Given the description of an element on the screen output the (x, y) to click on. 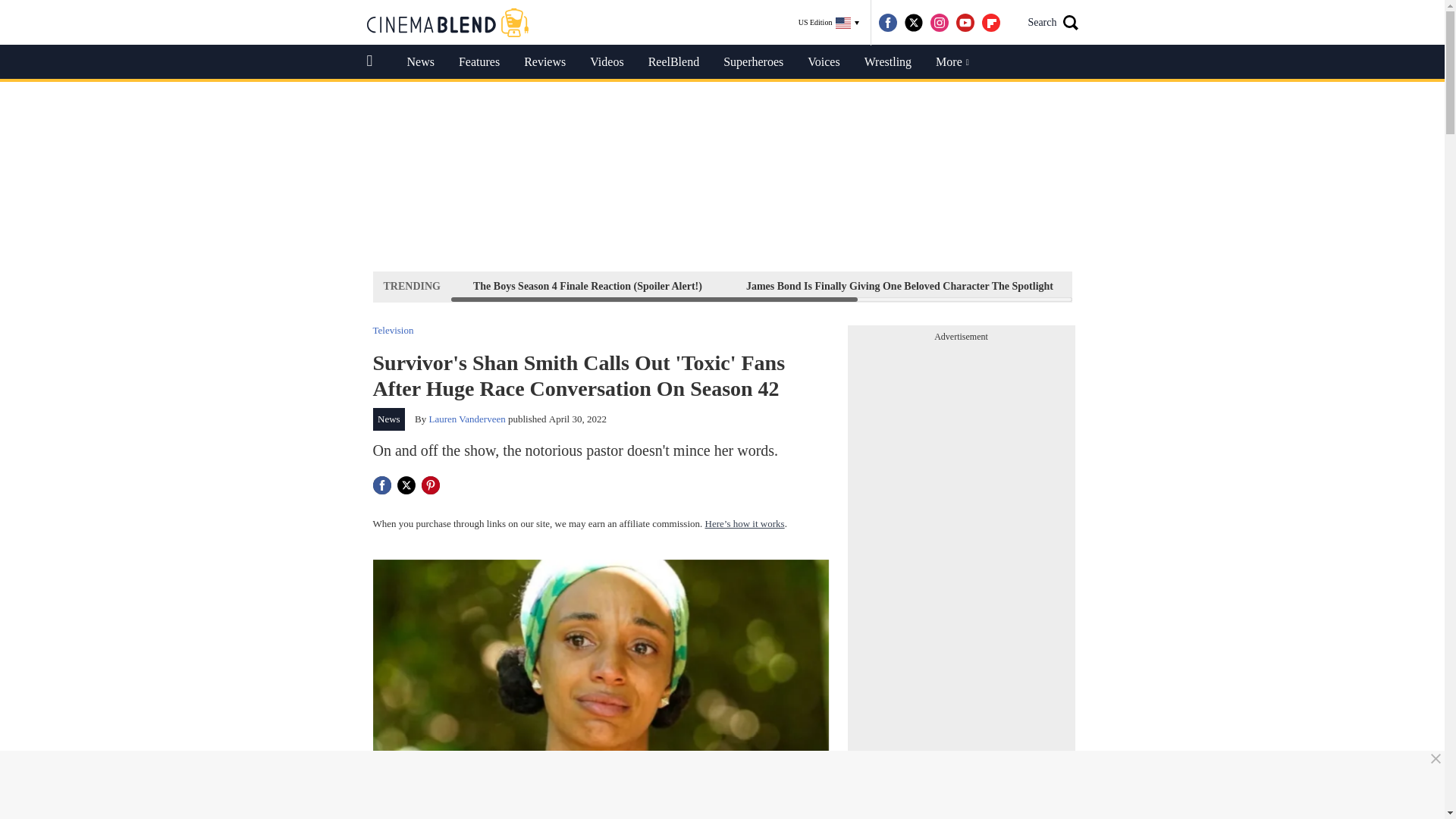
Superheroes (752, 61)
Reviews (545, 61)
Voices (822, 61)
Features (479, 61)
Videos (606, 61)
News (419, 61)
ReelBlend (673, 61)
Television (392, 329)
Wrestling (887, 61)
News (389, 418)
